Given the description of an element on the screen output the (x, y) to click on. 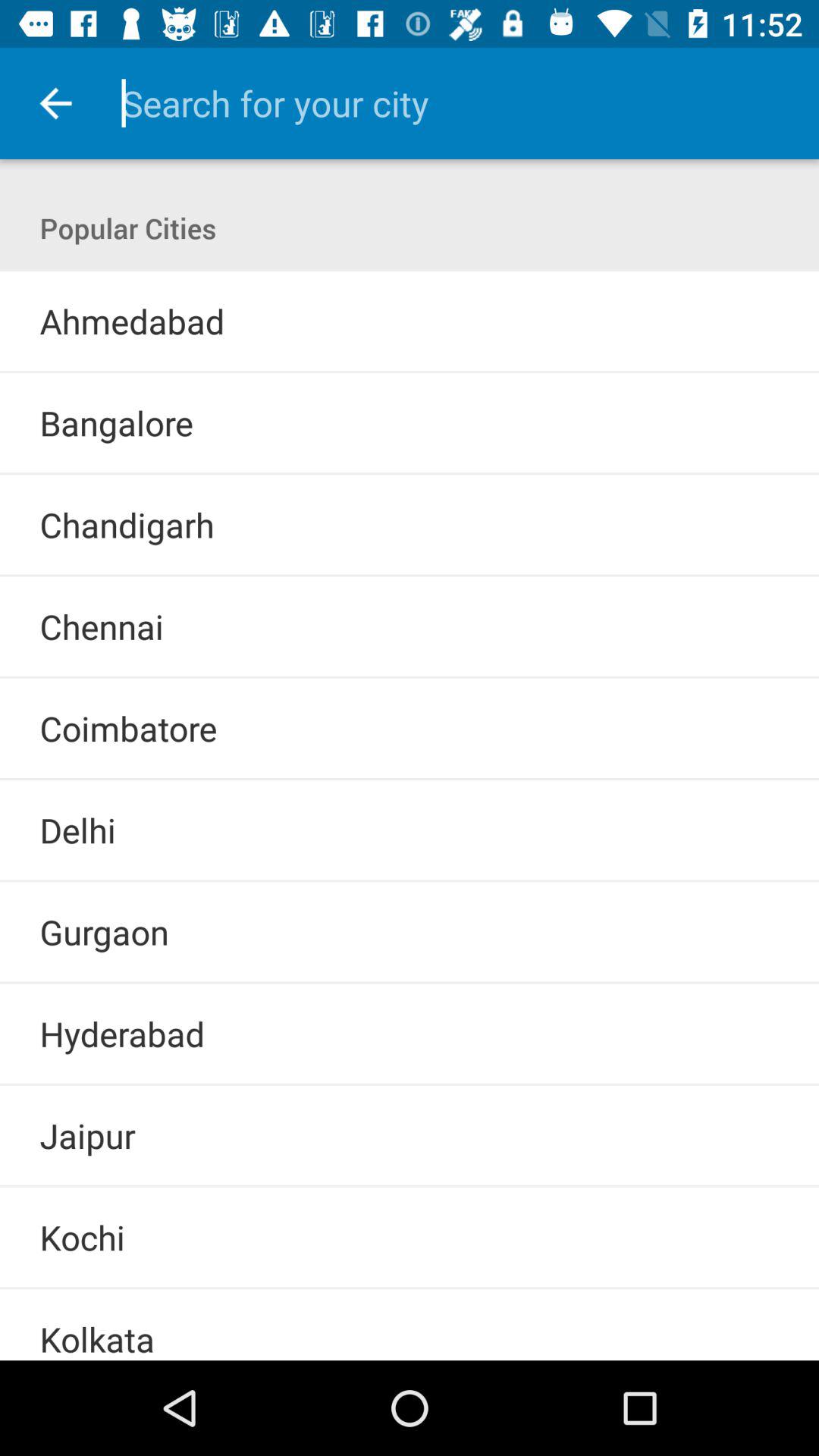
select the kolkata icon (96, 1338)
